Given the description of an element on the screen output the (x, y) to click on. 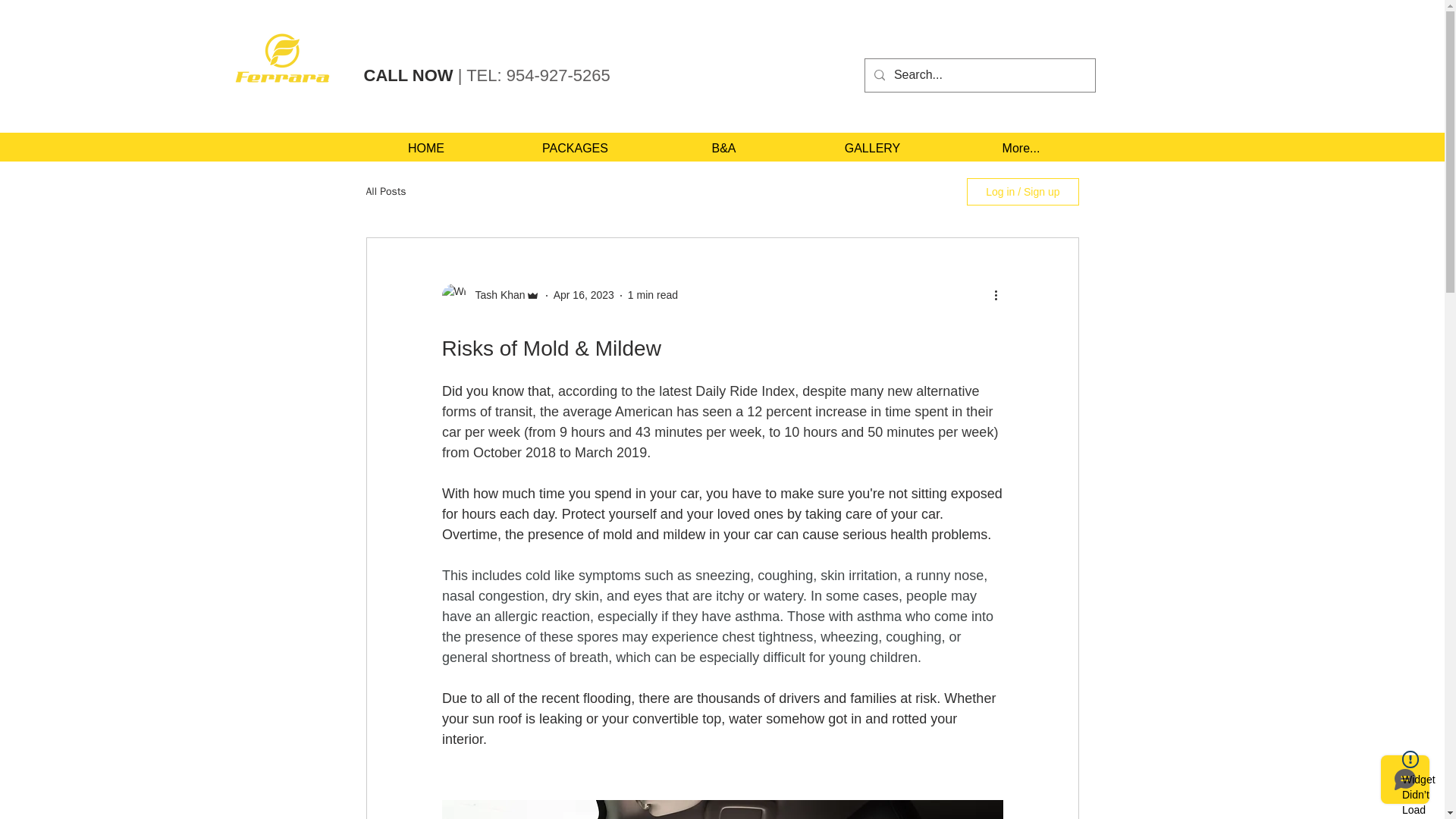
Apr 16, 2023 (583, 295)
Tash Khan (494, 295)
PACKAGES (574, 146)
All Posts (385, 192)
HOME (426, 146)
1 min read (652, 295)
GALLERY (871, 146)
